Given the description of an element on the screen output the (x, y) to click on. 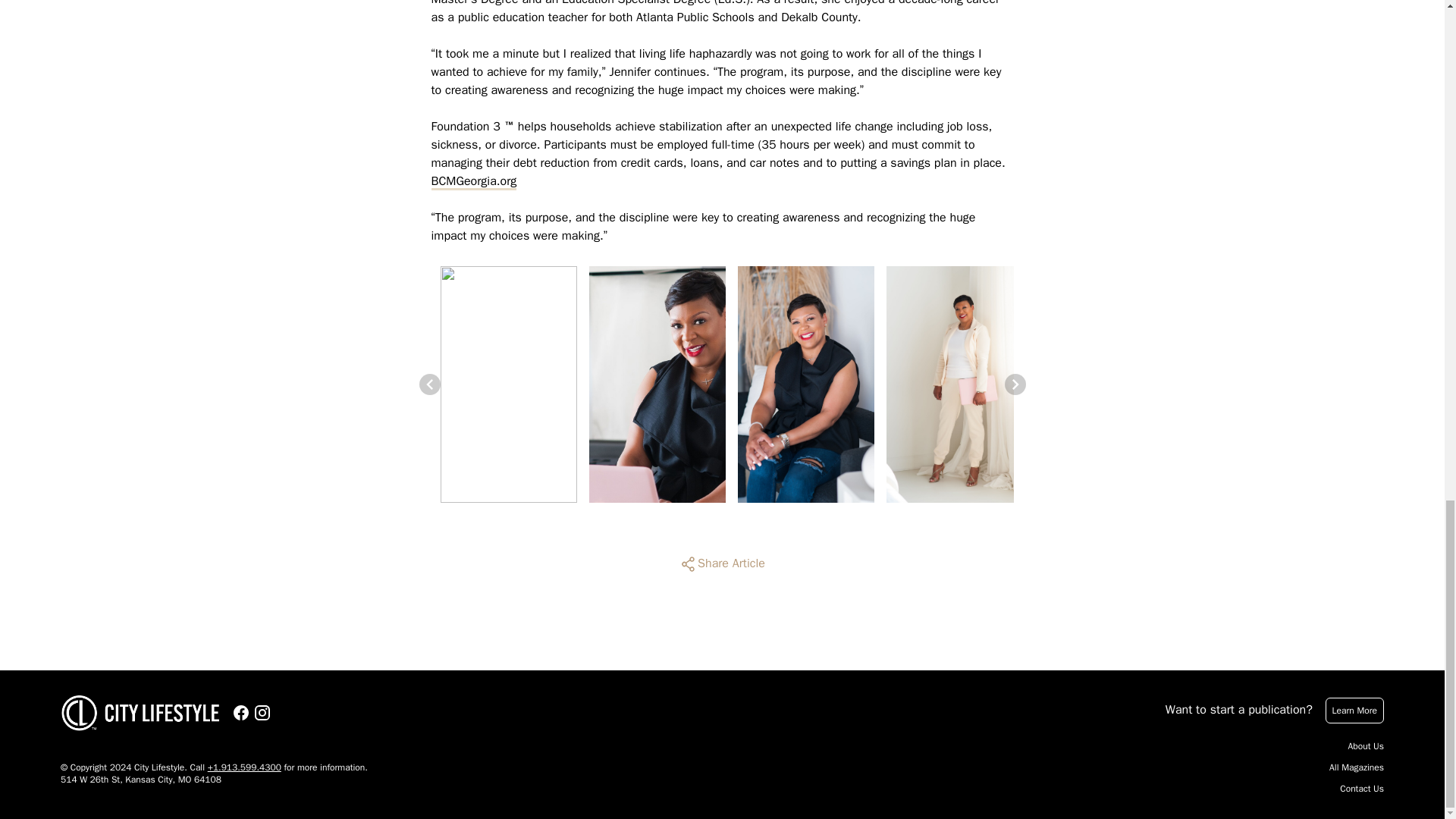
About Us (1366, 746)
Share Article (722, 563)
Learn More (1354, 710)
BCMGeorgia.org (473, 180)
Contact Us (1361, 788)
All Magazines (1356, 767)
